Given the description of an element on the screen output the (x, y) to click on. 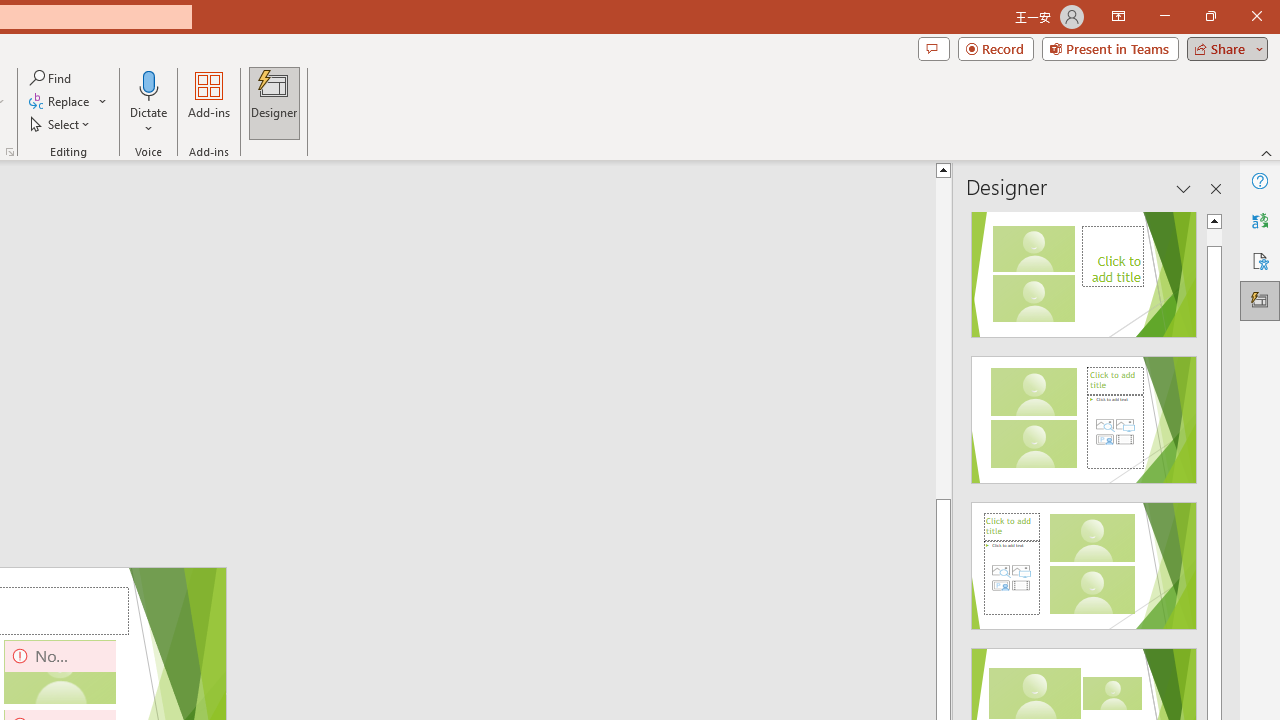
Camera 5, No camera detected. (59, 672)
